Given the description of an element on the screen output the (x, y) to click on. 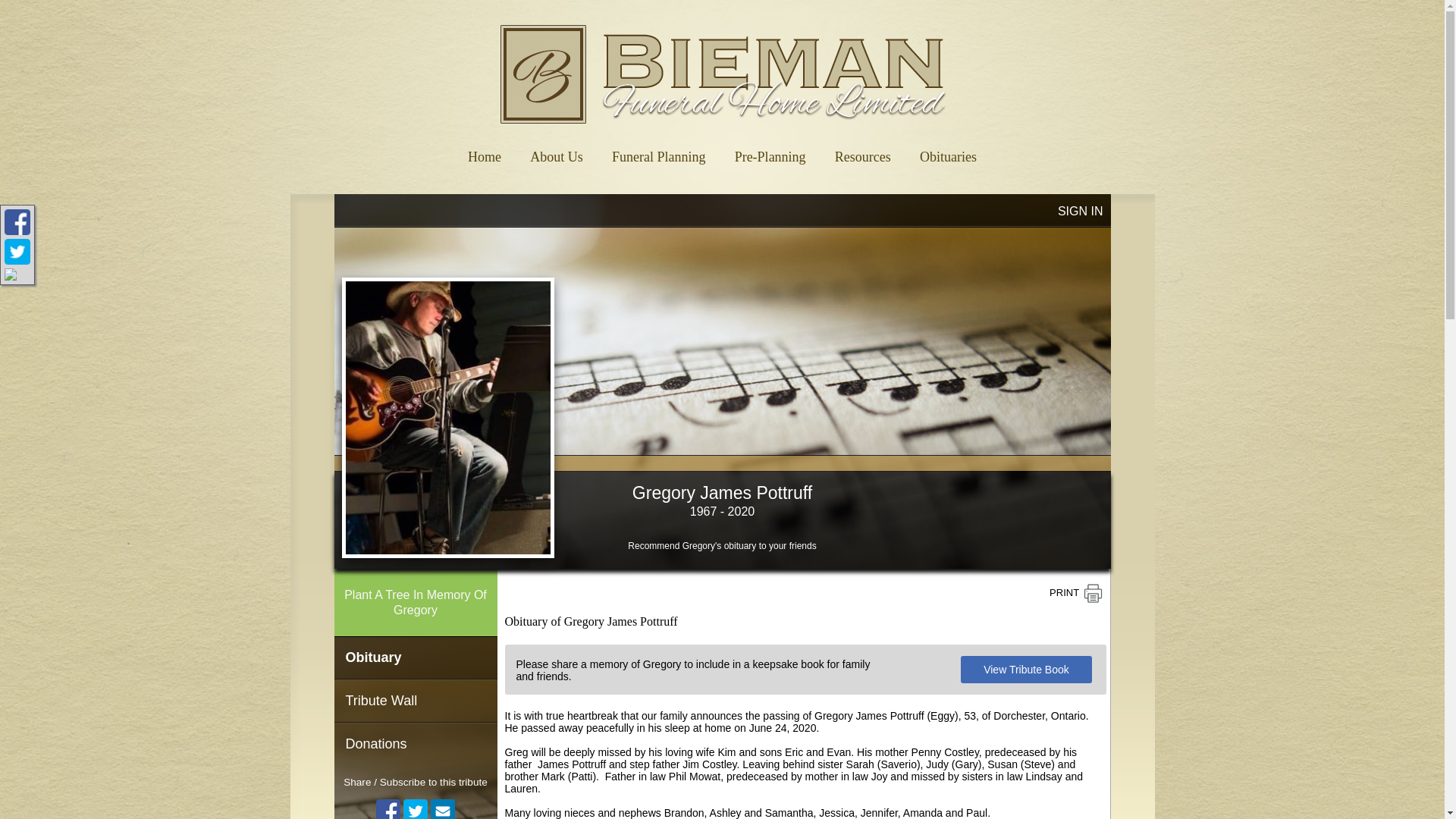
Receive Notifications (442, 809)
Twitter (415, 809)
Pre-Planning (769, 151)
Obituary (414, 657)
Plant A Tree In Memory Of Gregory (414, 601)
Home (484, 151)
Facebook (387, 809)
Tribute Wall (414, 700)
About Us (556, 151)
Plant A Tree (414, 601)
